Given the description of an element on the screen output the (x, y) to click on. 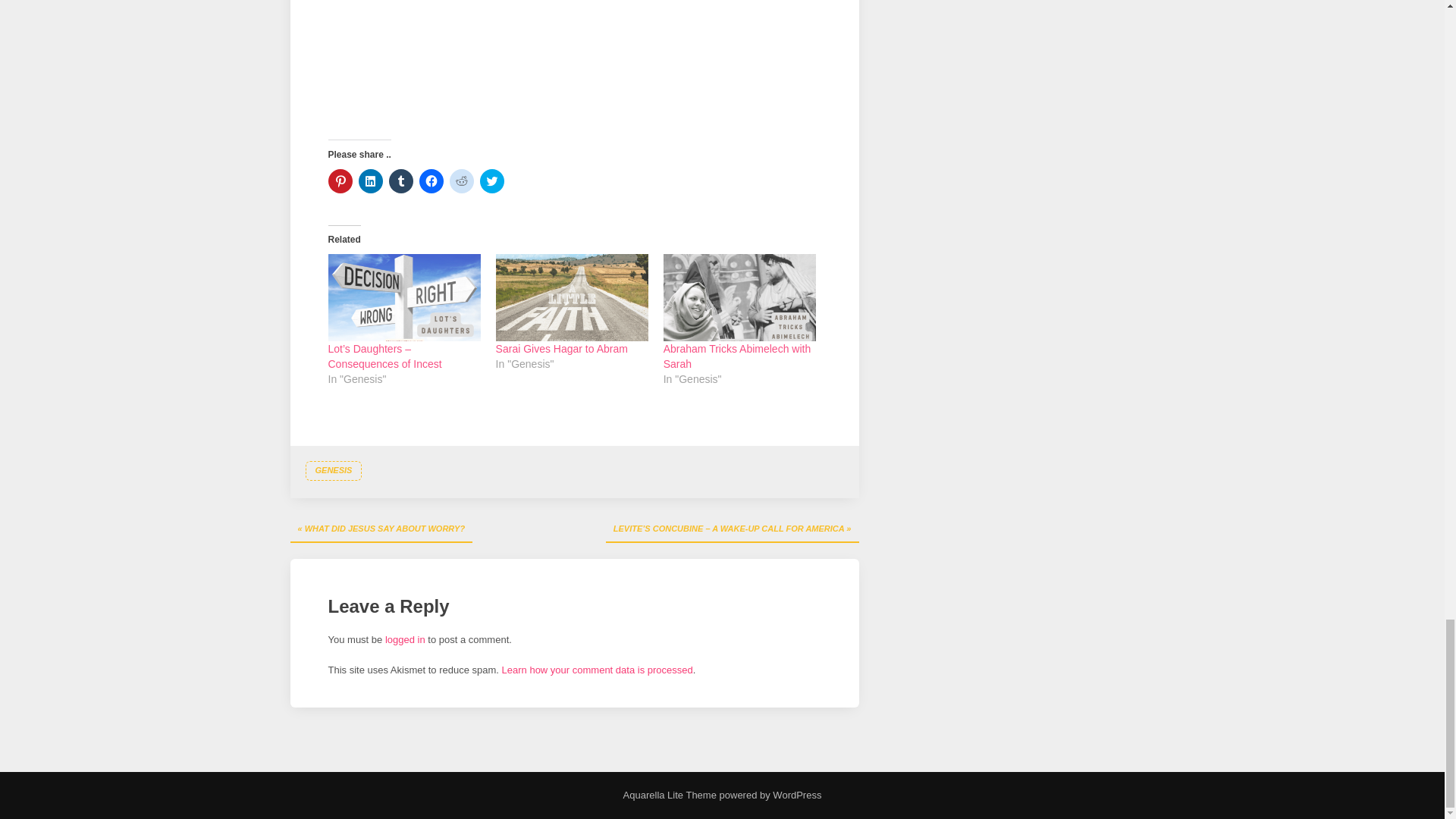
WHAT DID JESUS SAY ABOUT WORRY? (380, 529)
Click to share on Facebook (430, 180)
Sarai Gives Hagar to Abram (561, 348)
Click to share on Twitter (491, 180)
Abraham Tricks Abimelech with Sarah (736, 356)
Sarai Gives Hagar to Abram (571, 297)
GENESIS (332, 470)
Sarai Gives Hagar to Abram (561, 348)
Click to share on LinkedIn (369, 180)
Abraham Tricks Abimelech with Sarah (736, 356)
